Given the description of an element on the screen output the (x, y) to click on. 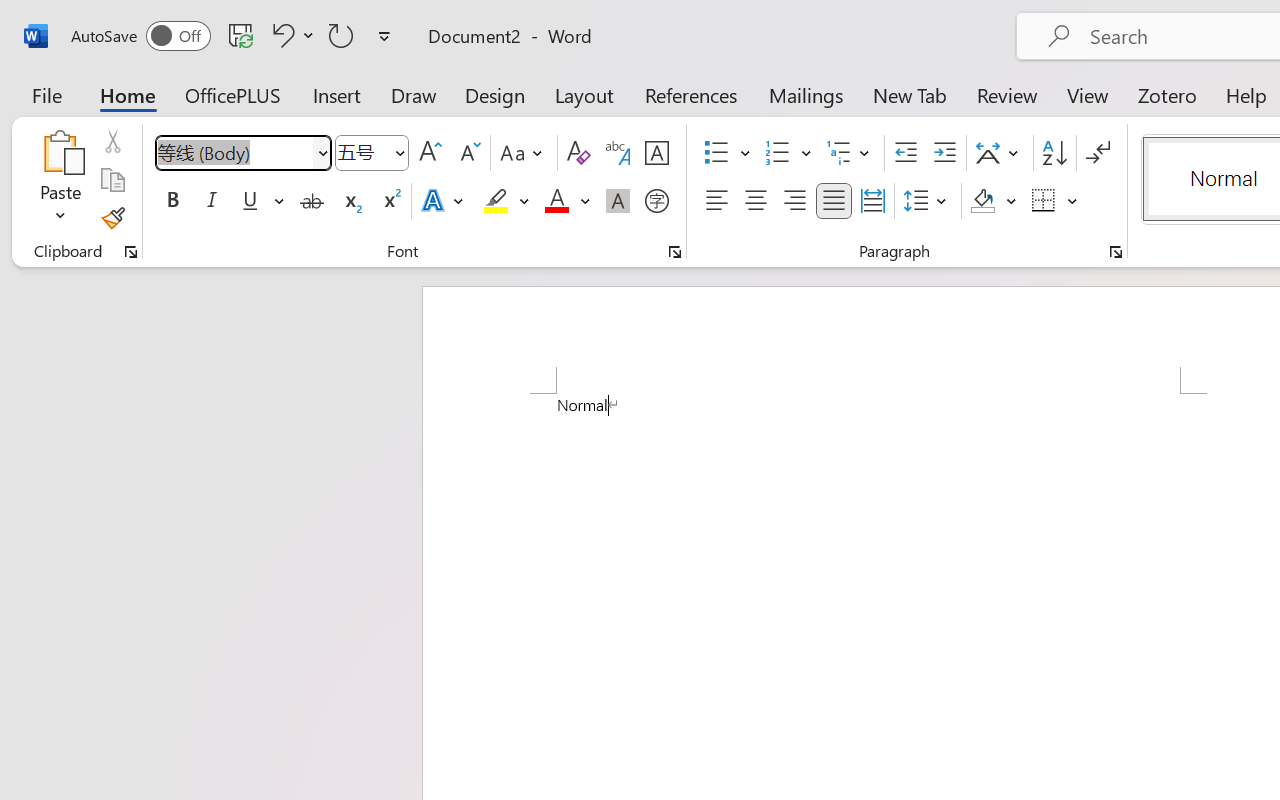
Review (1007, 94)
AutoSave (140, 35)
Center (756, 201)
Bold (172, 201)
Underline (261, 201)
Mailings (806, 94)
Align Right (794, 201)
Numbering (778, 153)
Strikethrough (312, 201)
More Options (1073, 201)
Font... (675, 252)
Layout (584, 94)
Increase Indent (944, 153)
Underline (250, 201)
Asian Layout (1000, 153)
